Given the description of an element on the screen output the (x, y) to click on. 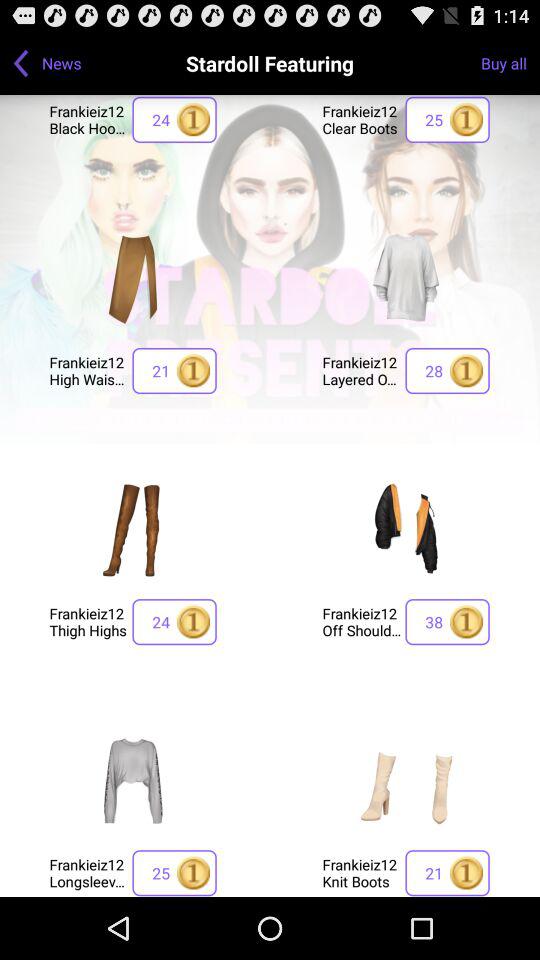
open frankieiz12 off shoulder icon (361, 621)
